Given the description of an element on the screen output the (x, y) to click on. 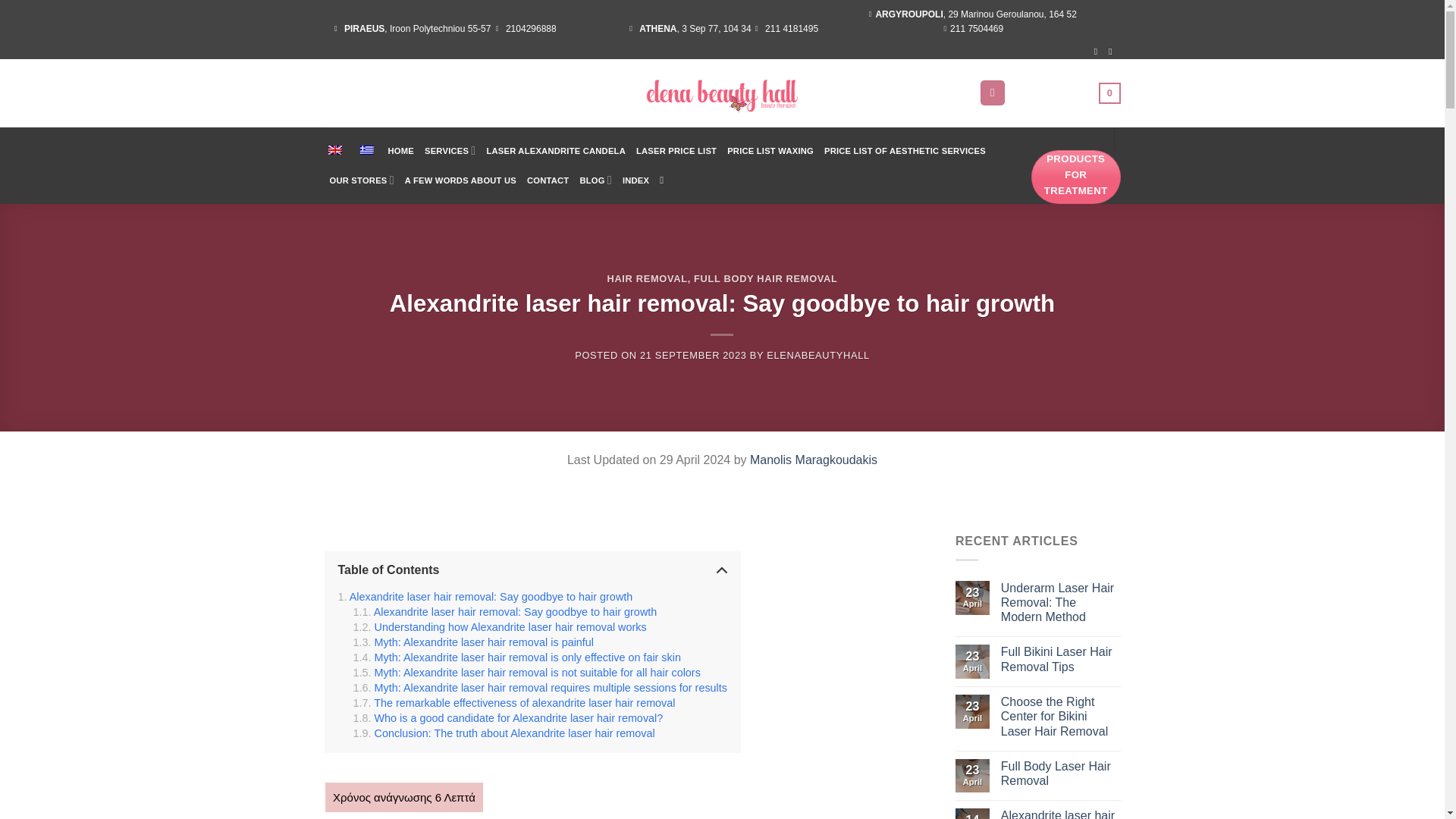
Alexandrite laser hair removal: Say goodbye to hair growth  (485, 596)
LASER PRICE LIST (676, 150)
PIRAEUS, Iroon Polytechniou 55-57 (410, 29)
2104296888 (524, 29)
211 4181495 (785, 29)
Myth: Alexandrite laser hair removal is painful (473, 642)
Basket (1067, 93)
ATHENA, 3 Sep 77, 104 34 (688, 29)
Alexandrite laser hair removal: Say goodbye to hair growth (505, 612)
